Given the description of an element on the screen output the (x, y) to click on. 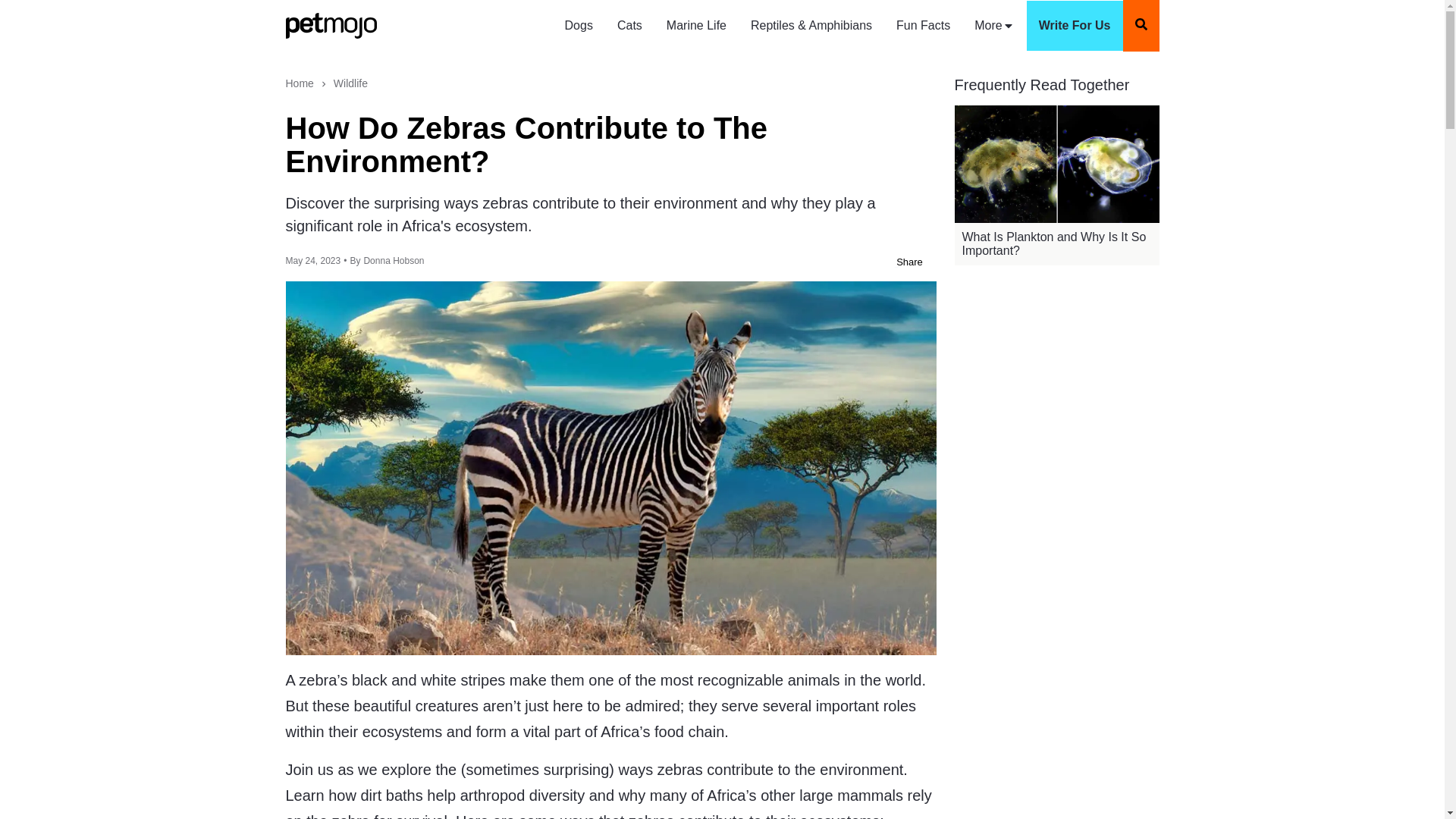
Home (299, 83)
What Is Plankton and Why Is It So Important? (1055, 243)
Marine Life (695, 25)
Cats (629, 25)
Fun Facts (922, 25)
Write For Us (1074, 25)
Dogs (579, 25)
Donna Hobson (392, 260)
Wildlife (350, 83)
